Given the description of an element on the screen output the (x, y) to click on. 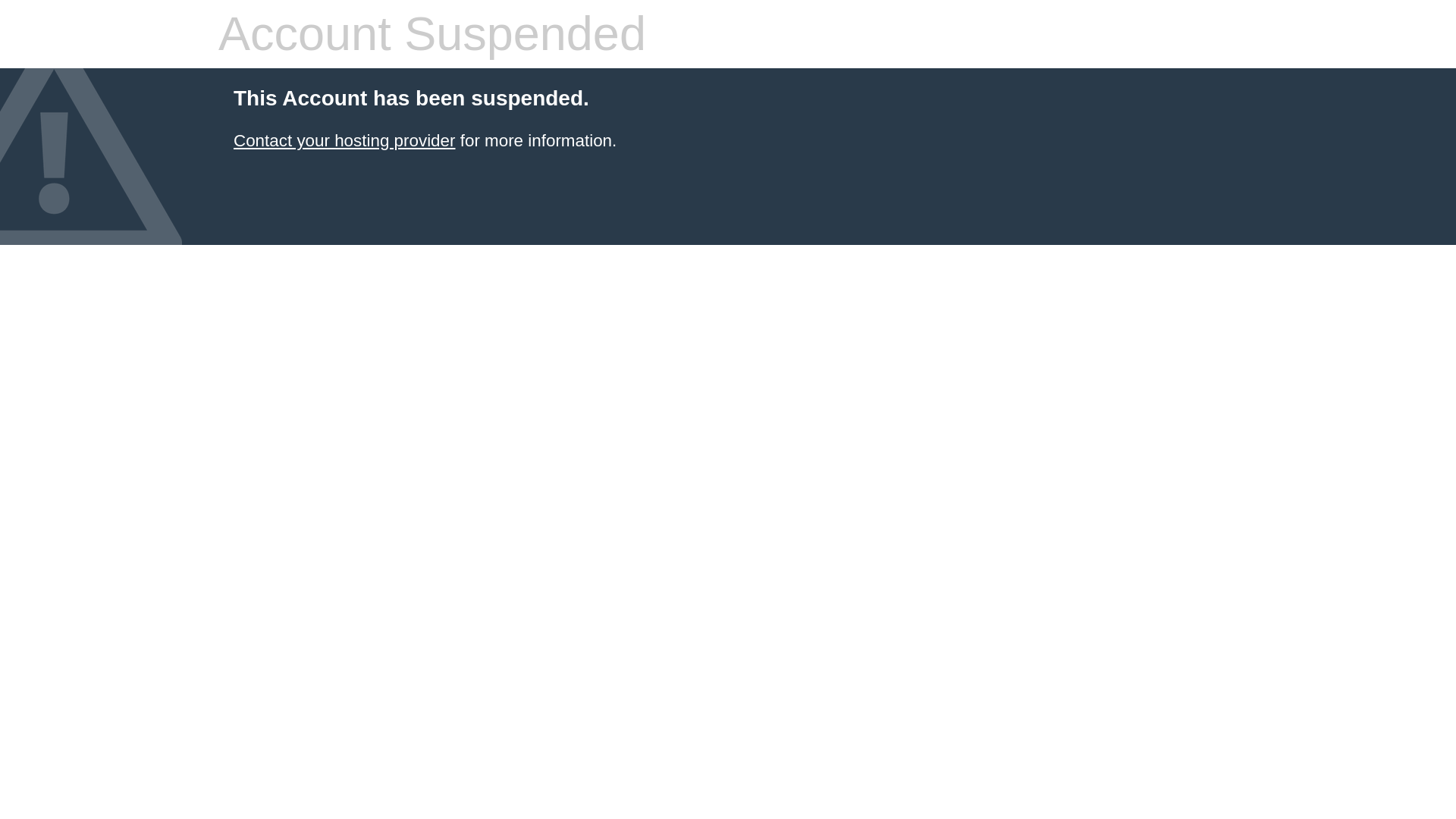
Contact your hosting provider (343, 140)
